Given the description of an element on the screen output the (x, y) to click on. 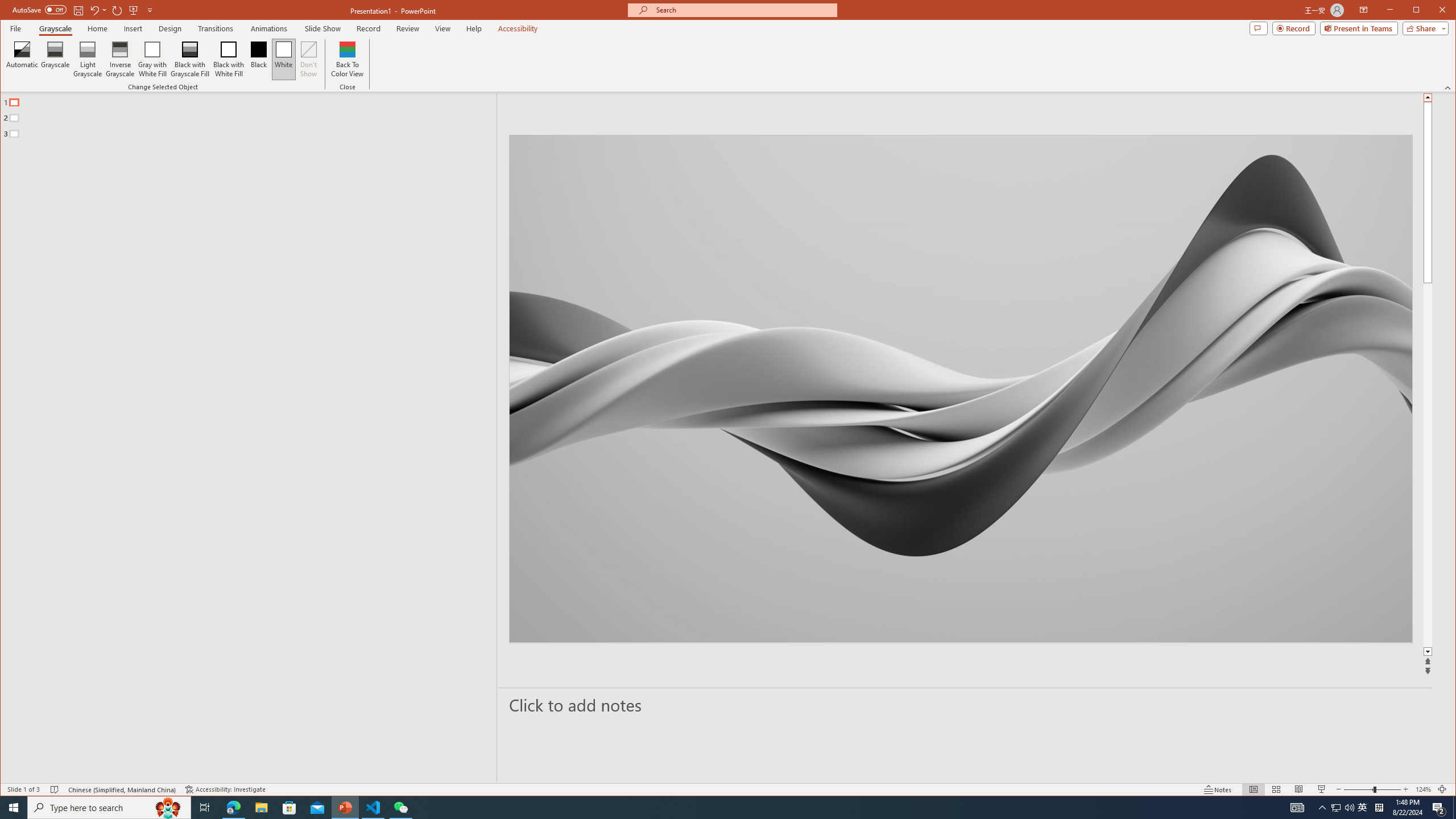
View (443, 28)
